Given the description of an element on the screen output the (x, y) to click on. 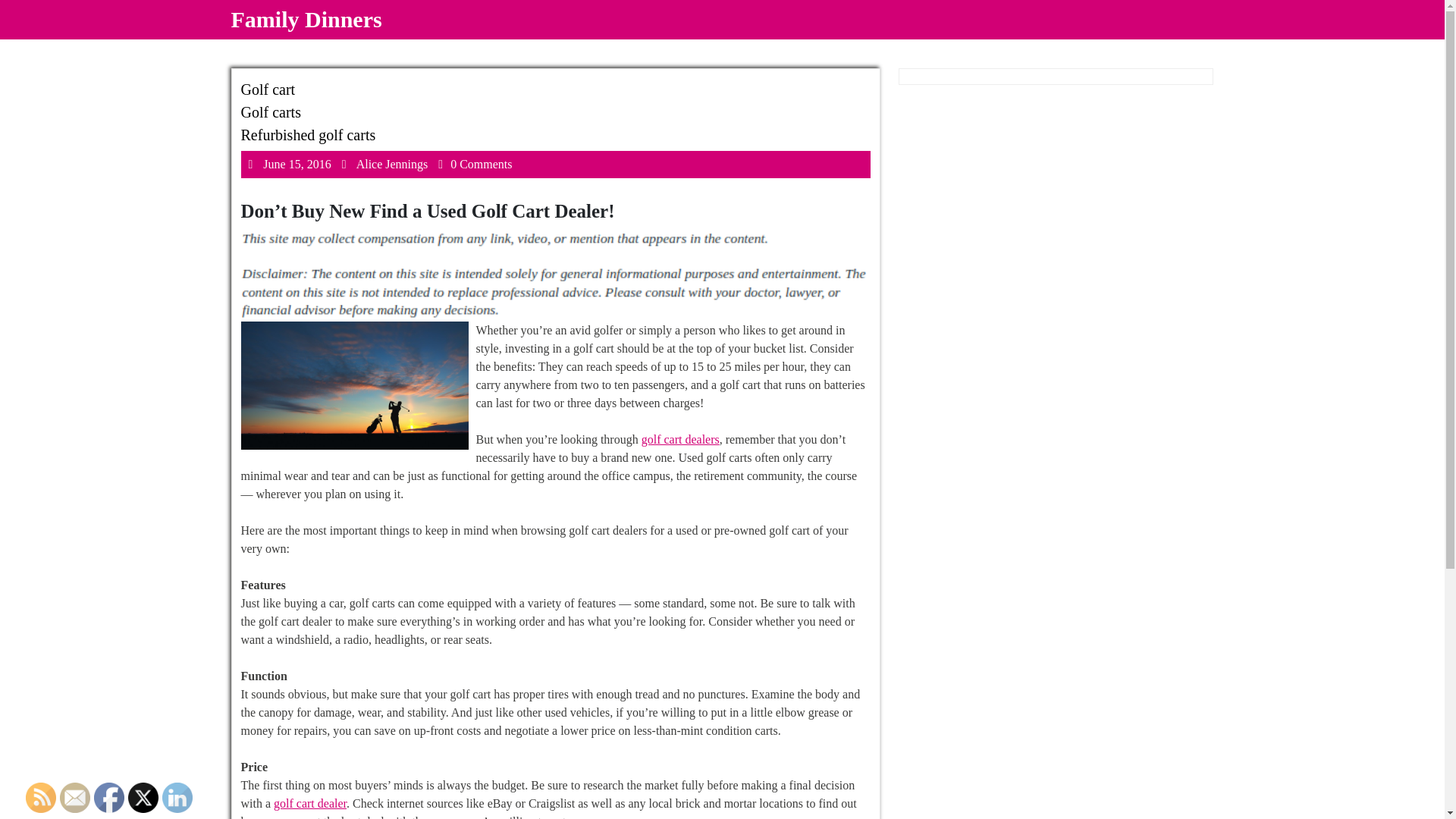
Family Dinners (305, 18)
Golf carts (271, 112)
Golf carts (680, 439)
Follow by Email (74, 797)
Facebook (296, 164)
LinkedIn (108, 797)
Golf cart (176, 797)
Twitter (268, 89)
RSS (392, 164)
Refurbished golf carts (143, 797)
Utility carts (41, 797)
golf cart dealer (308, 134)
golf cart dealers (309, 802)
